Given the description of an element on the screen output the (x, y) to click on. 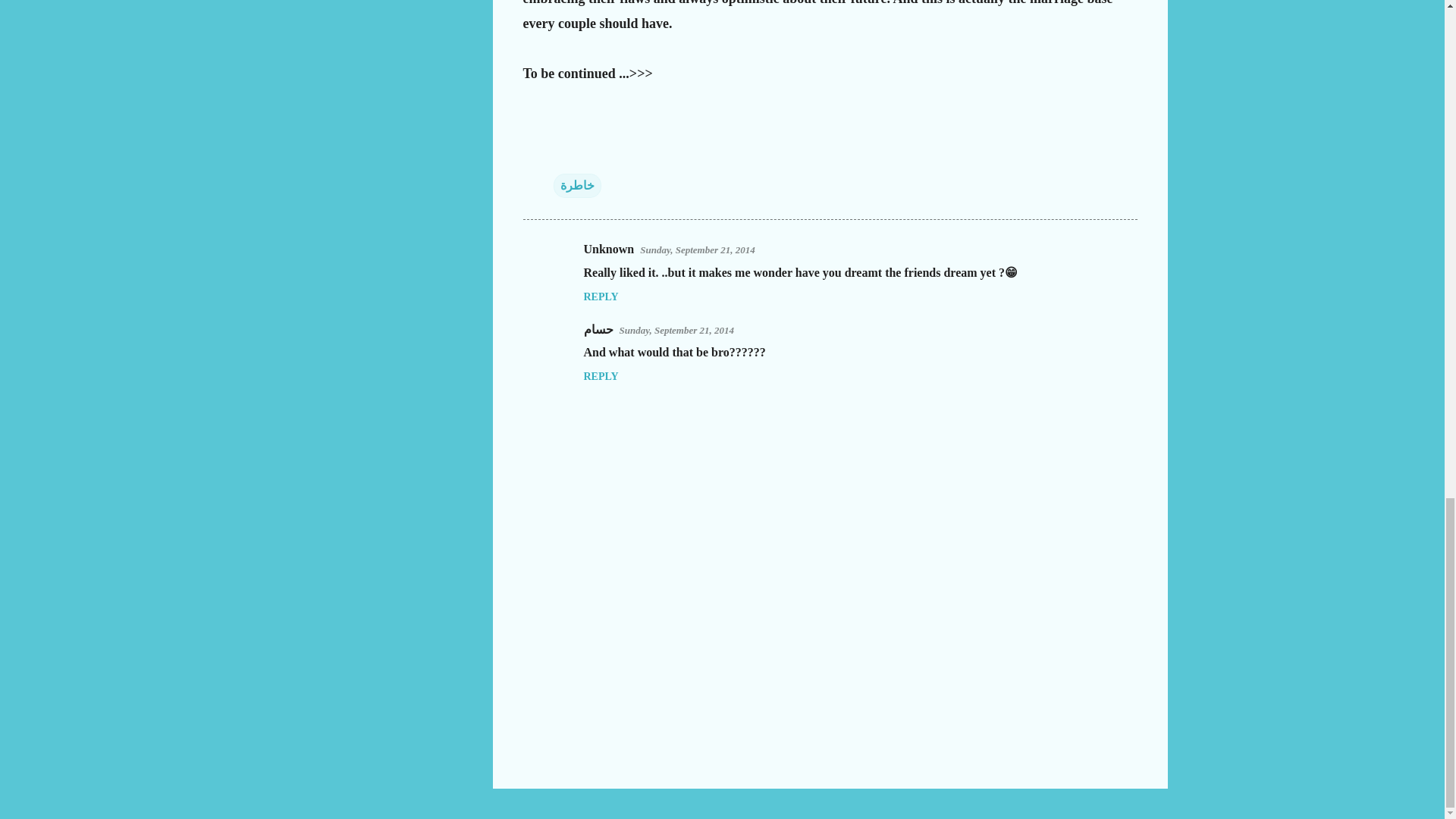
Unknown (608, 248)
Sunday, September 21, 2014 (675, 329)
REPLY (600, 296)
Sunday, September 21, 2014 (697, 249)
REPLY (600, 376)
